Given the description of an element on the screen output the (x, y) to click on. 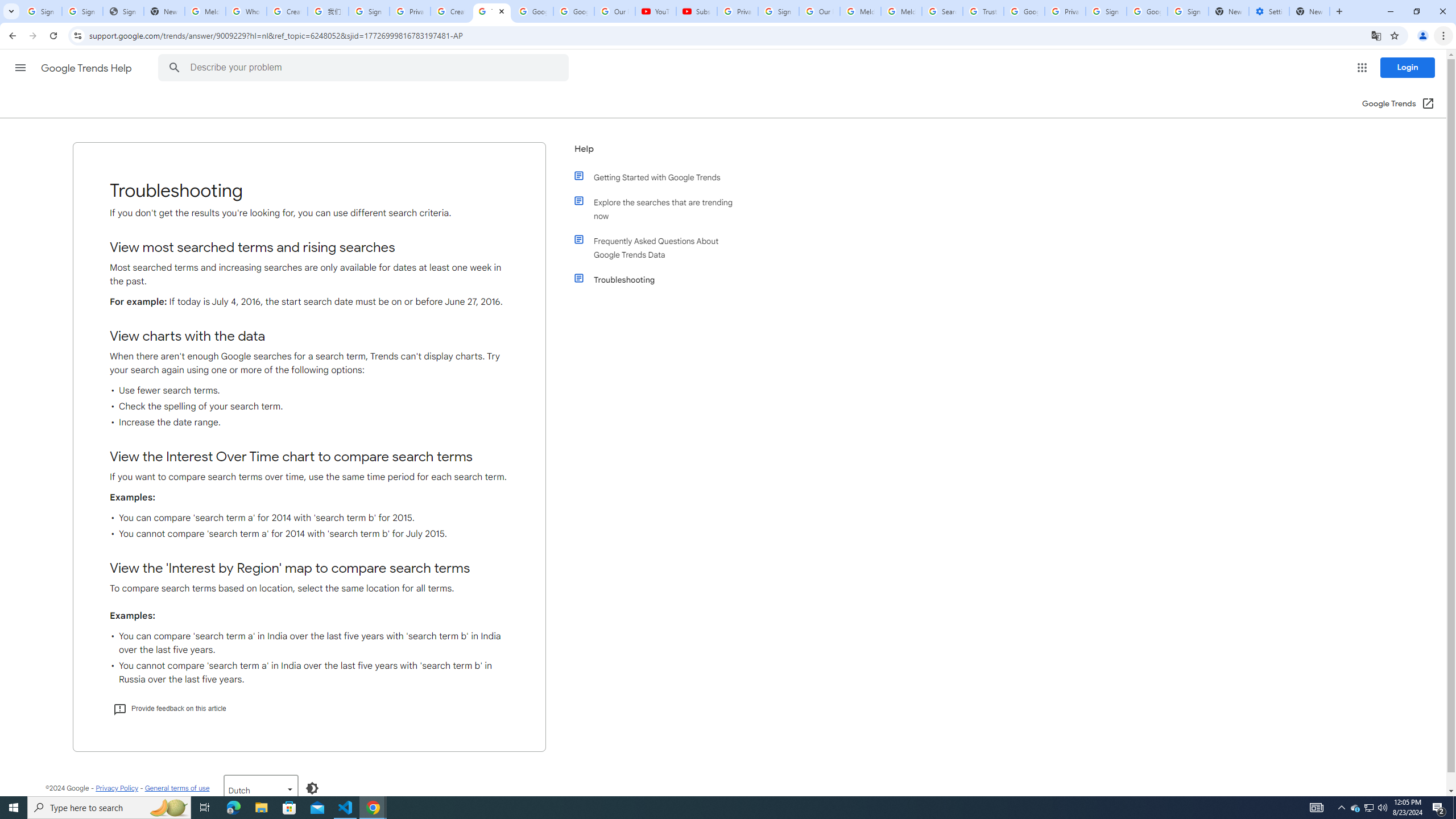
Google Cybersecurity Innovations - Google Safety Center (1146, 11)
Getting Started with Google Trends (661, 177)
